Given the description of an element on the screen output the (x, y) to click on. 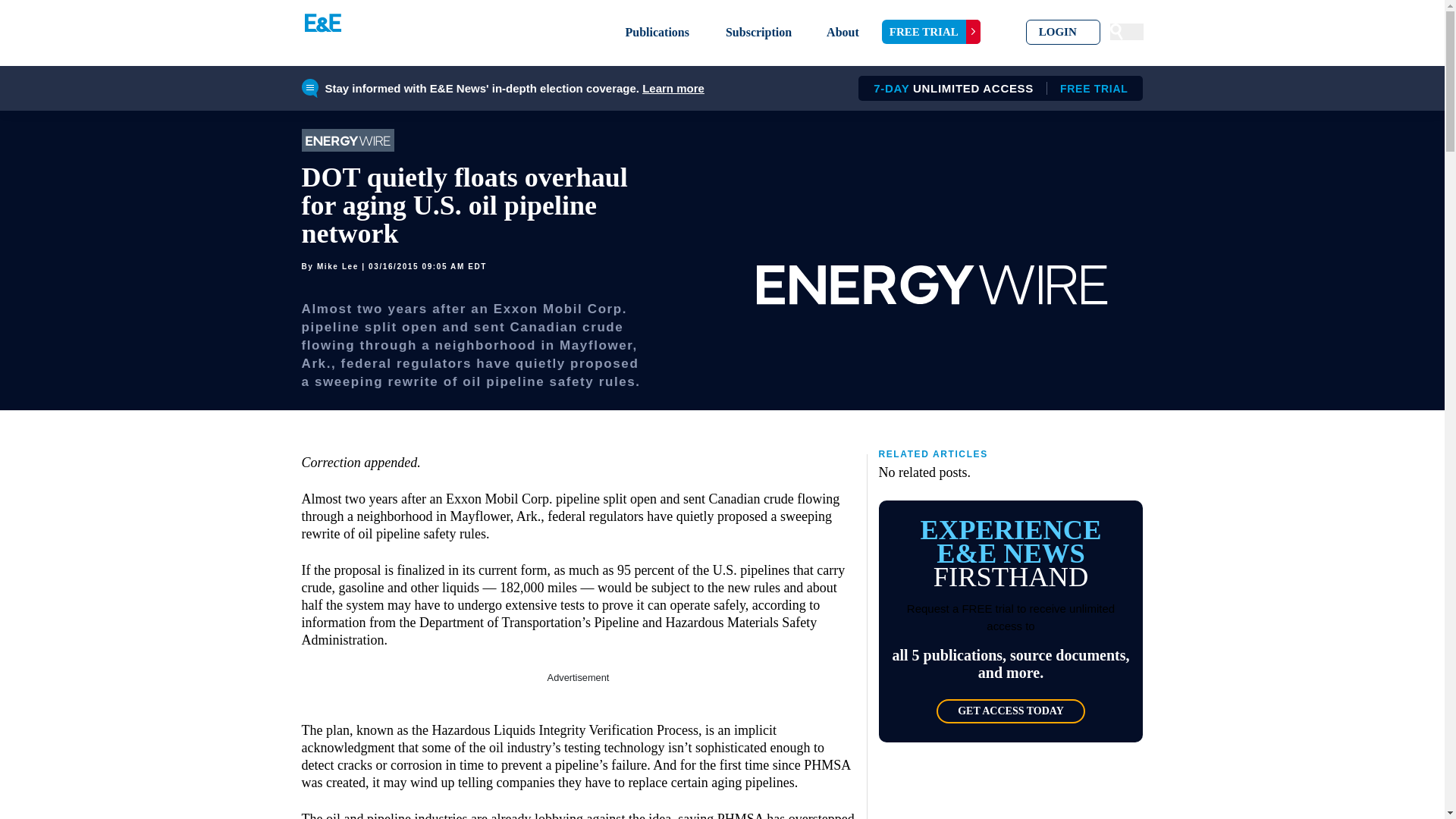
GET ACCESS TODAY (994, 88)
Subscription (1010, 711)
Publications (758, 32)
FREE TRIAL (656, 32)
Skip to primary navigation (930, 31)
LOGIN (843, 32)
Learn more (1063, 32)
